Given the description of an element on the screen output the (x, y) to click on. 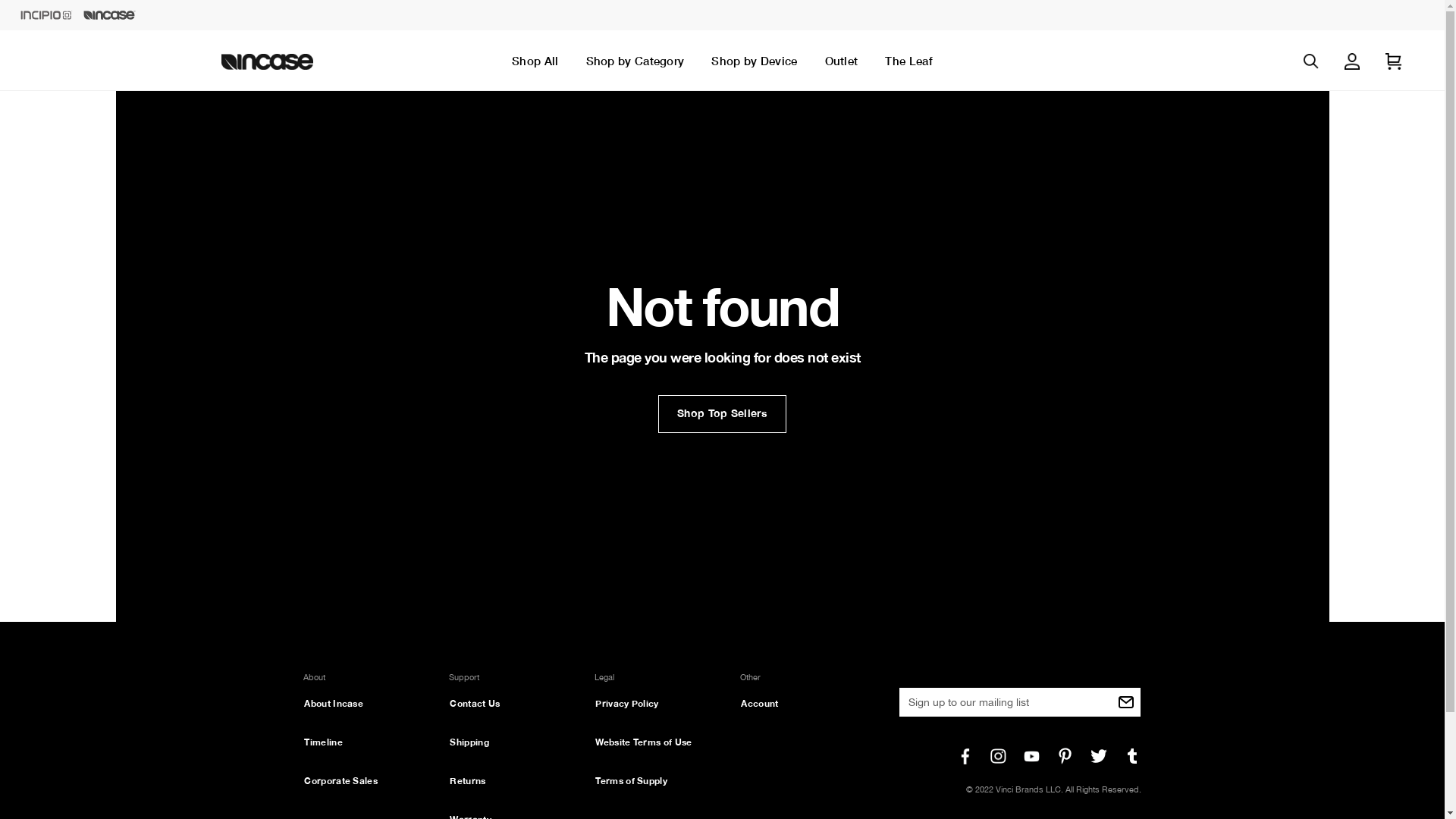
Incase.com on Twitter Element type: hover (1098, 755)
Incase.com on Pinterest Element type: hover (1065, 755)
The Leaf Element type: text (908, 60)
Returns Element type: text (467, 780)
Account Element type: text (759, 703)
Number of items in cart Element type: hover (1392, 61)
Shipping Element type: text (468, 741)
Shop Top Sellers Element type: text (722, 414)
Sign Up Element type: text (1125, 701)
Shop by Category Element type: text (635, 60)
Incase.com on Facebook Element type: hover (965, 755)
Website Terms of Use Element type: text (643, 741)
Contact Us Element type: text (474, 703)
Shop All Element type: text (534, 60)
Shop by Device Element type: text (754, 60)
About Incase Element type: text (333, 703)
Outlet Element type: text (841, 60)
Terms of Supply Element type: text (631, 780)
Incase.com on Tumblr Element type: hover (1132, 755)
Search Element type: hover (1310, 61)
Timeline Element type: text (322, 741)
Privacy Policy Element type: text (626, 703)
Incase.com on Youtube Element type: hover (1031, 755)
Corporate Sales Element type: text (340, 780)
Incase.com on Instagram Element type: hover (998, 755)
